Given the description of an element on the screen output the (x, y) to click on. 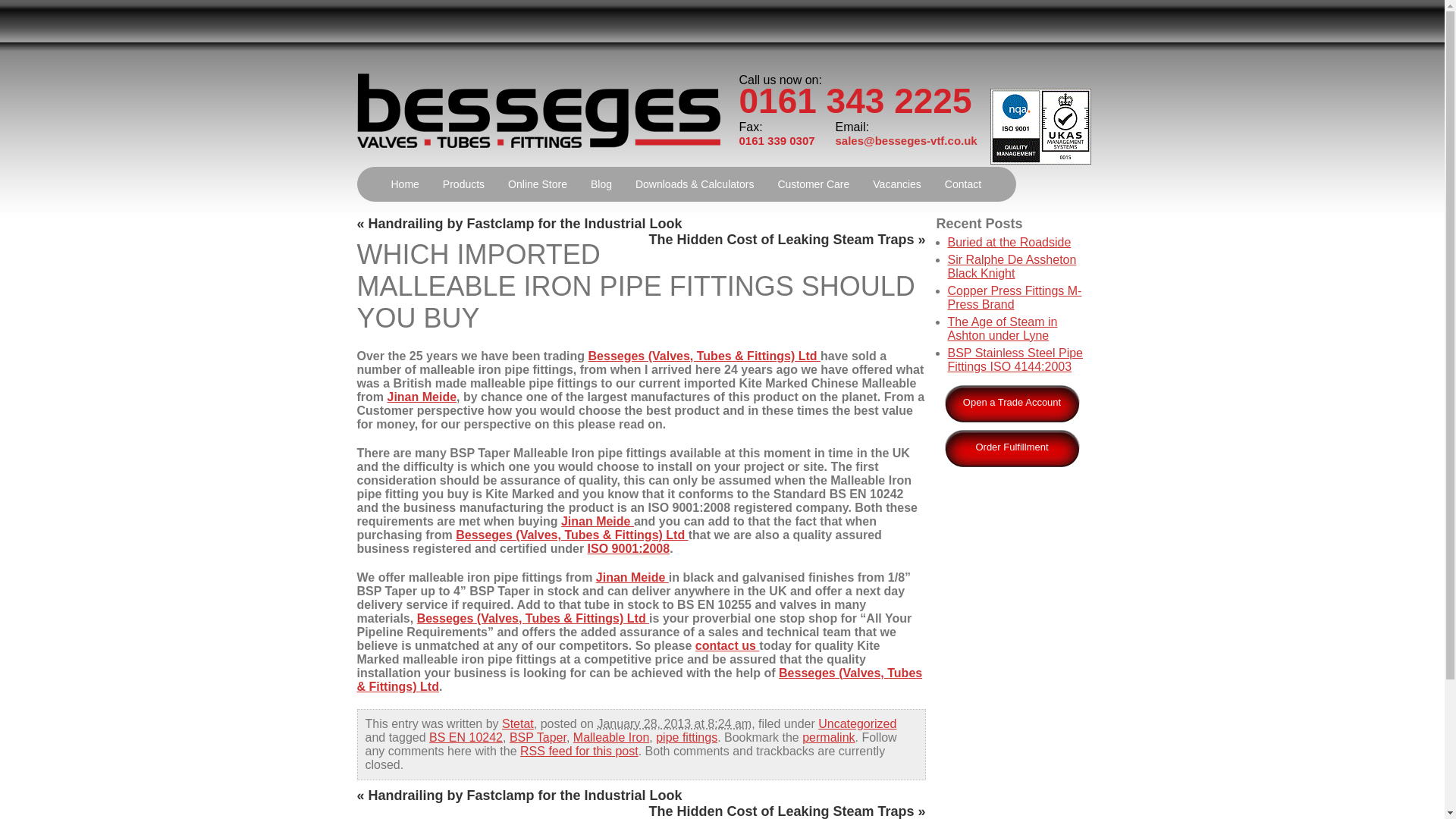
Stetat (518, 723)
permalink (828, 737)
Malleable Iron (611, 737)
Uncategorized (857, 723)
Vacancies (897, 184)
contact us (726, 645)
Blog (601, 184)
Customer Care (812, 184)
RSS feed for this post (579, 750)
Home (403, 184)
